Given the description of an element on the screen output the (x, y) to click on. 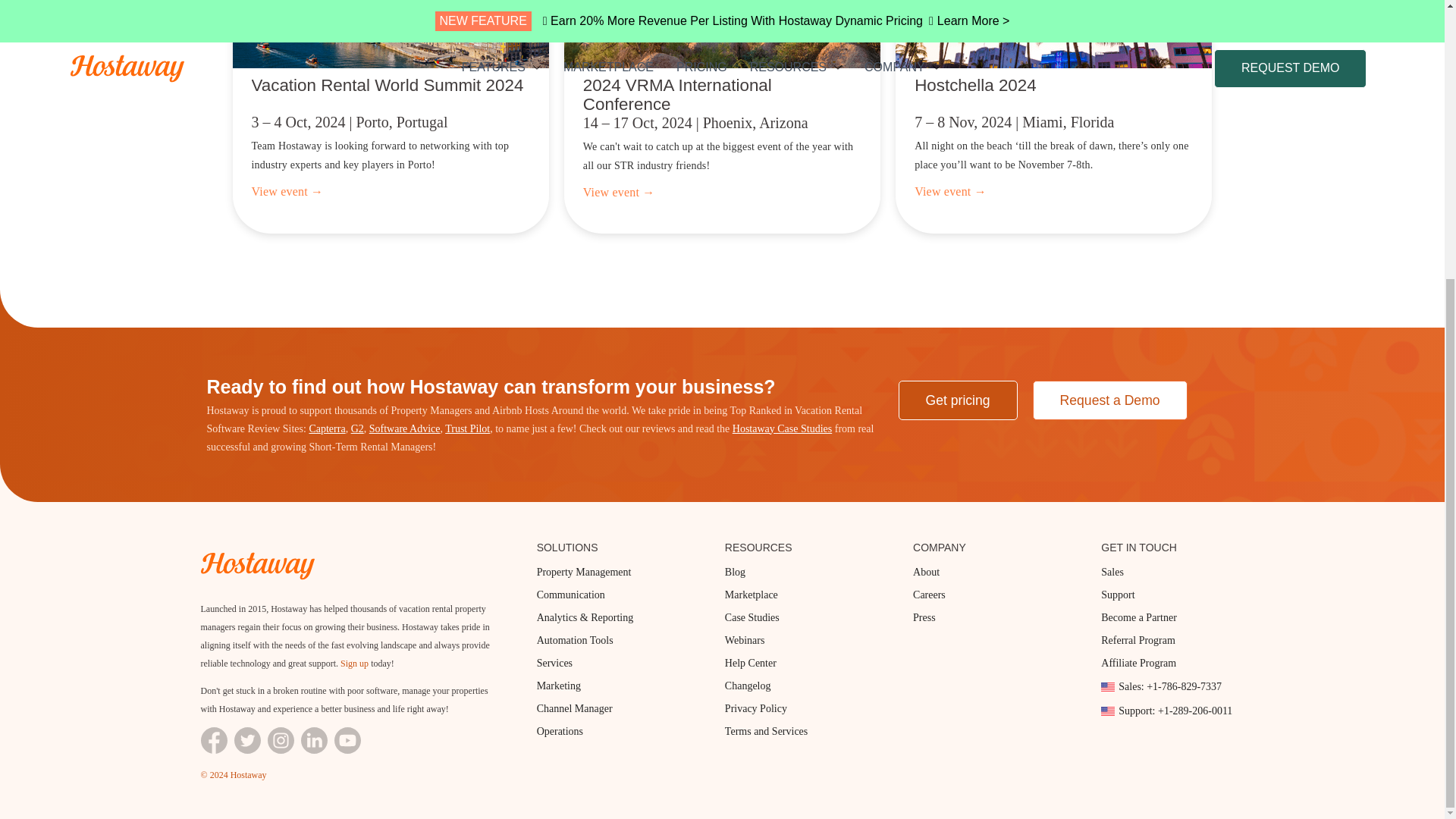
Property Management (608, 572)
Request a Demo (1110, 400)
Hostaway Case Studies (781, 428)
Capterra (326, 428)
Sign up (354, 663)
SOLUTIONS (608, 547)
Channel Manager (608, 708)
G2 (357, 428)
Services (608, 663)
Software Advice (405, 428)
Get pricing (957, 400)
Trust Pilot (467, 428)
Marketplace (796, 594)
Communication (608, 594)
Marketing (608, 686)
